Given the description of an element on the screen output the (x, y) to click on. 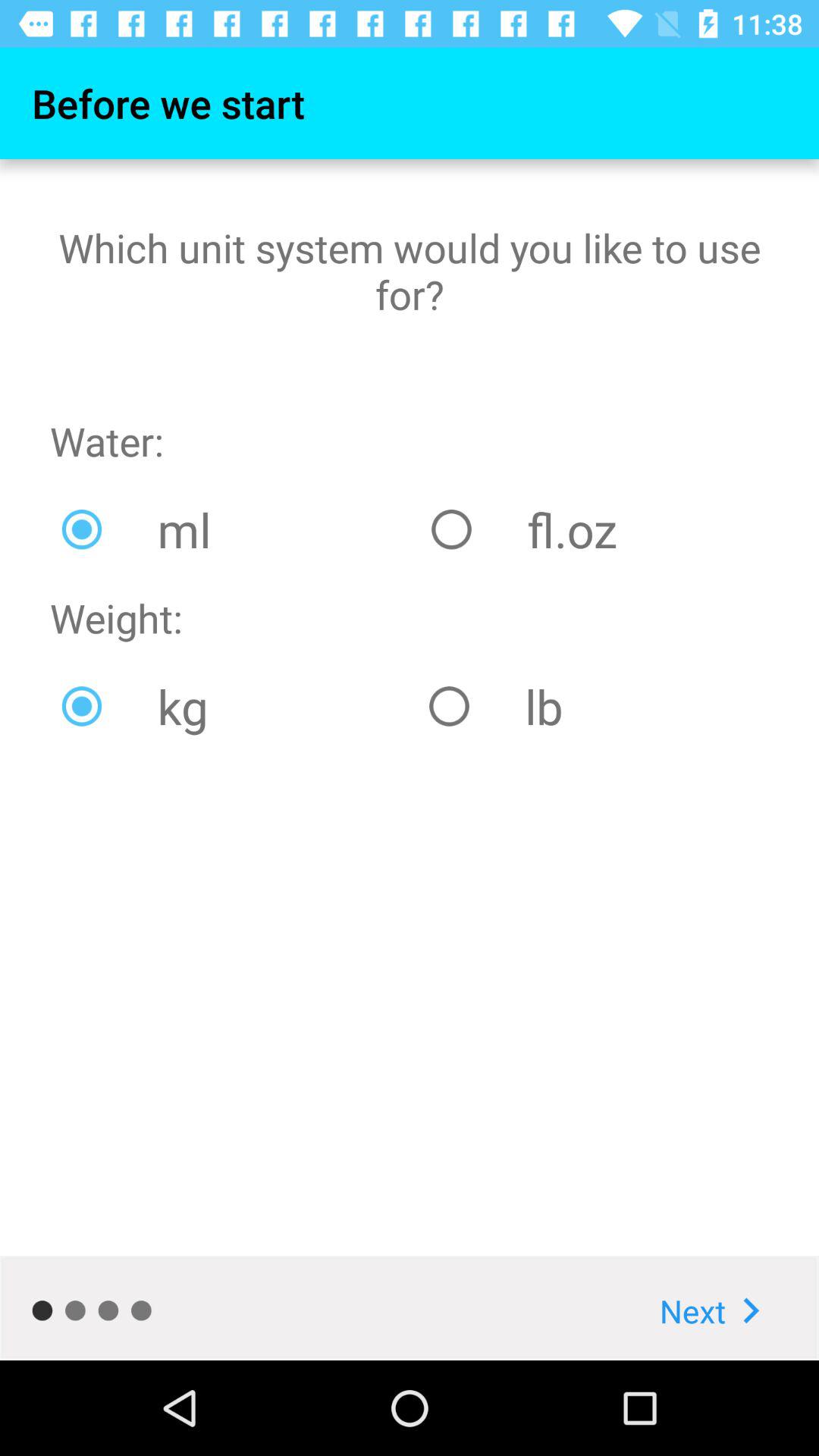
press the item to the left of lb item (233, 706)
